Given the description of an element on the screen output the (x, y) to click on. 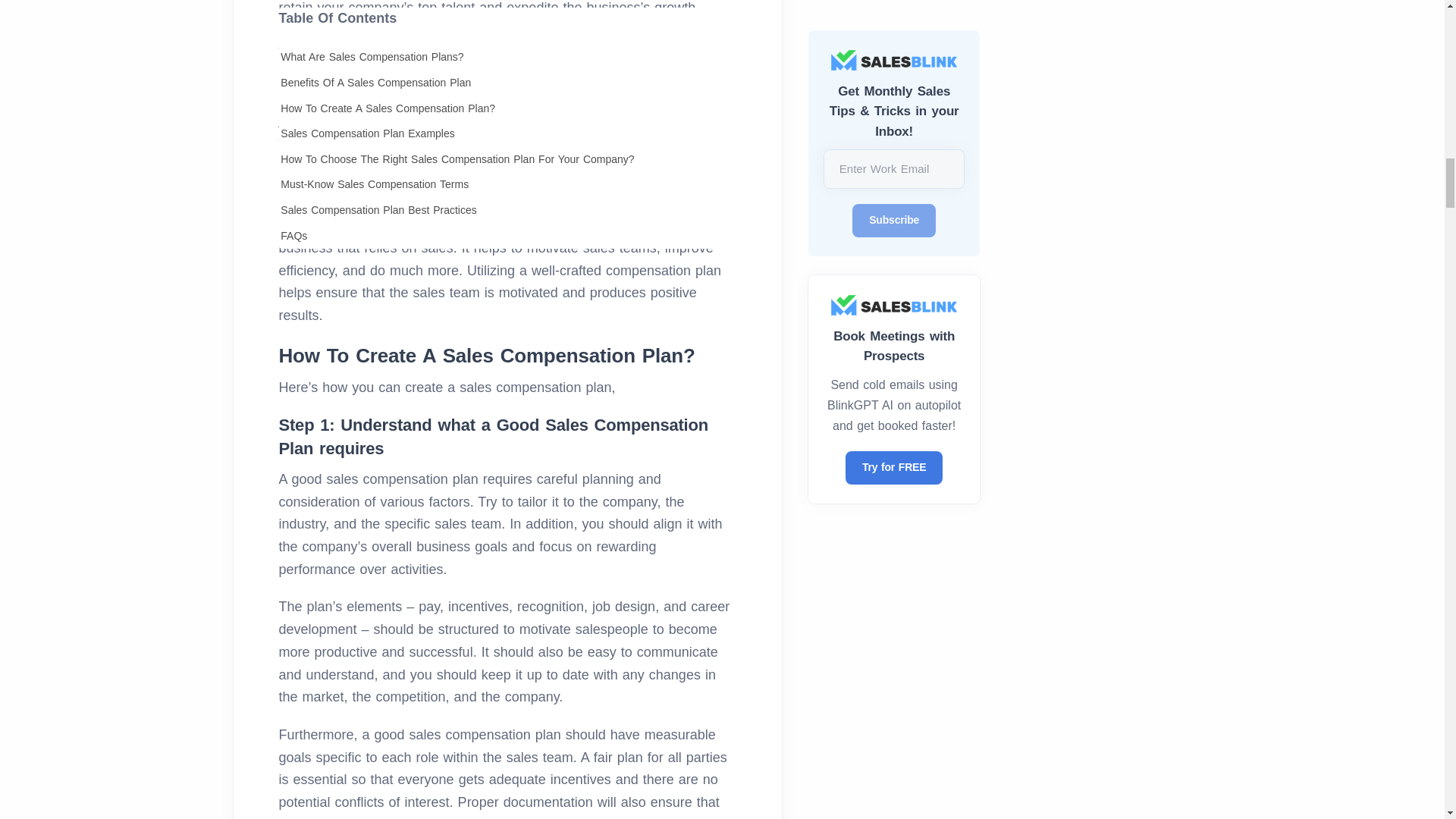
Improved employee morale (507, 76)
